Given the description of an element on the screen output the (x, y) to click on. 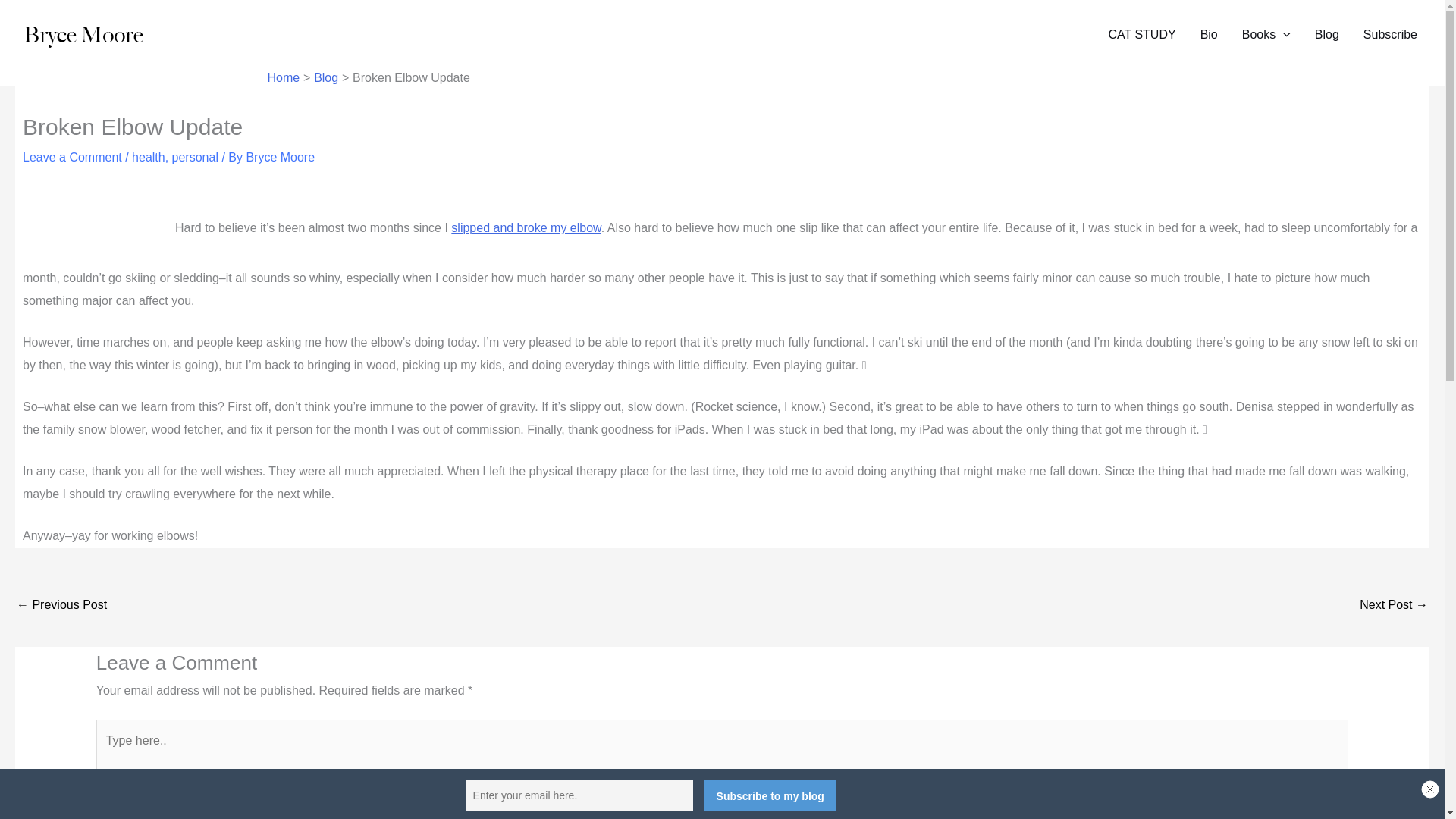
Subscribe (1390, 34)
Home (282, 77)
Bryce Moore (280, 156)
View all posts by Bryce Moore (280, 156)
Subscribe to my blog (769, 795)
Blog (325, 77)
Leave a Comment (72, 156)
Feelings of a Newly Published Author (1393, 605)
CAT STUDY (1142, 34)
slipped and broke my elbow (525, 227)
personal (194, 156)
Book Giveaway: The Basic Version (61, 605)
Blog (1327, 34)
health (148, 156)
Books (1266, 34)
